Given the description of an element on the screen output the (x, y) to click on. 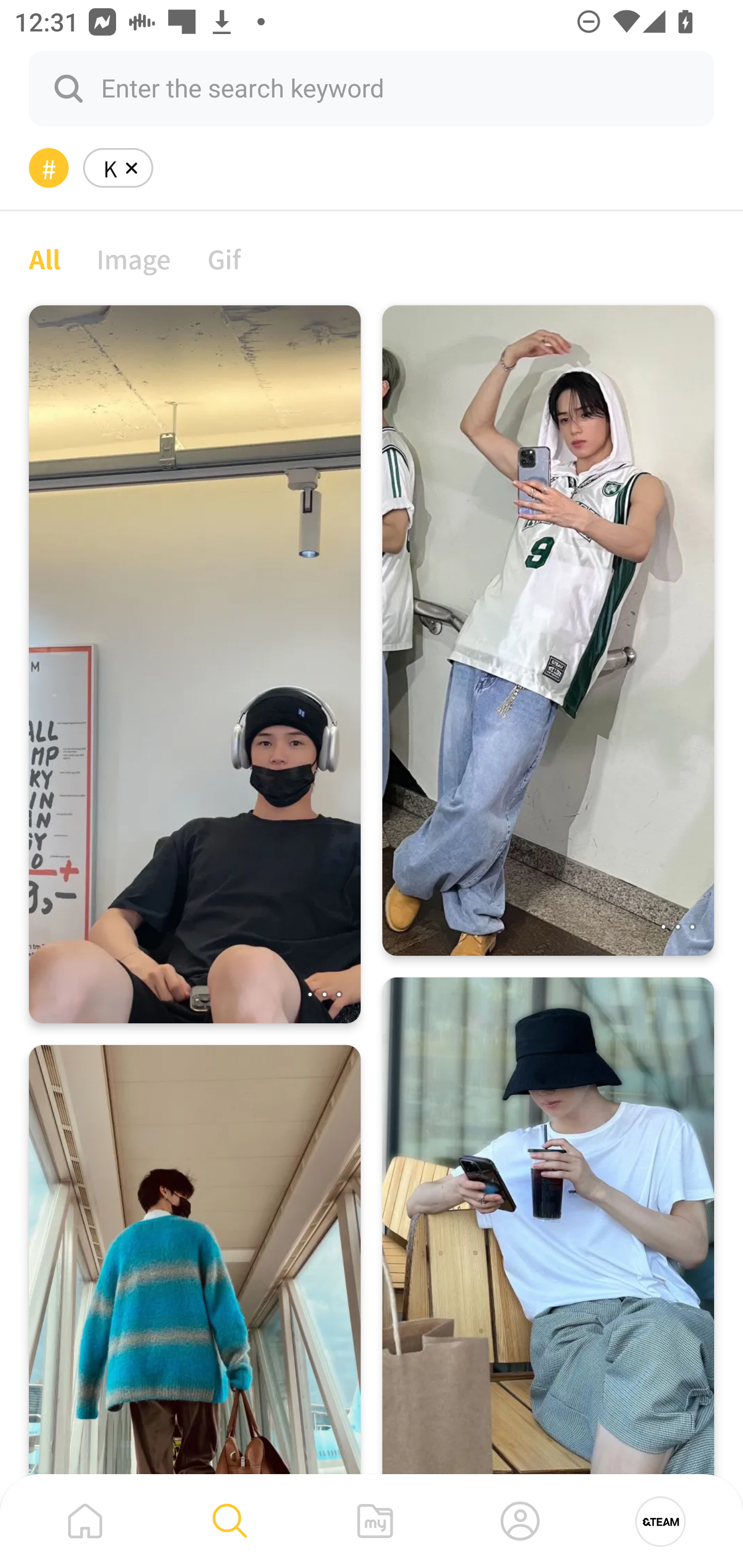
All (44, 257)
Image (133, 257)
Gif (223, 257)
